Given the description of an element on the screen output the (x, y) to click on. 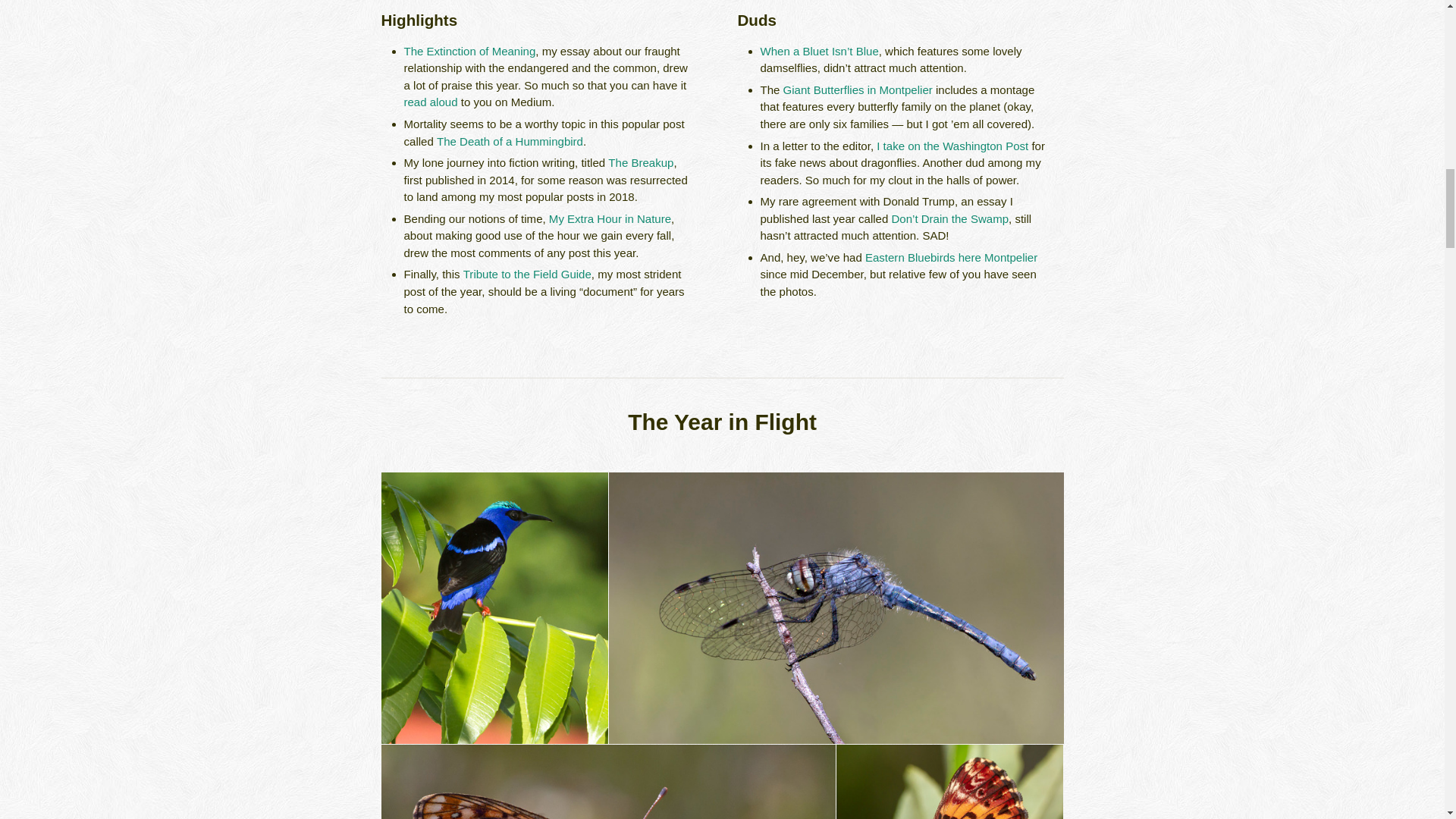
The Extinction of Meaning (469, 51)
Tribute to the Field Guide (527, 273)
Giant Butterflies in Montpelier (858, 89)
I take on the Washington Post (951, 145)
read aloud (430, 101)
The Death of a Hummingbird (509, 141)
My Extra Hour in Nature (609, 218)
The Breakup (640, 162)
